Given the description of an element on the screen output the (x, y) to click on. 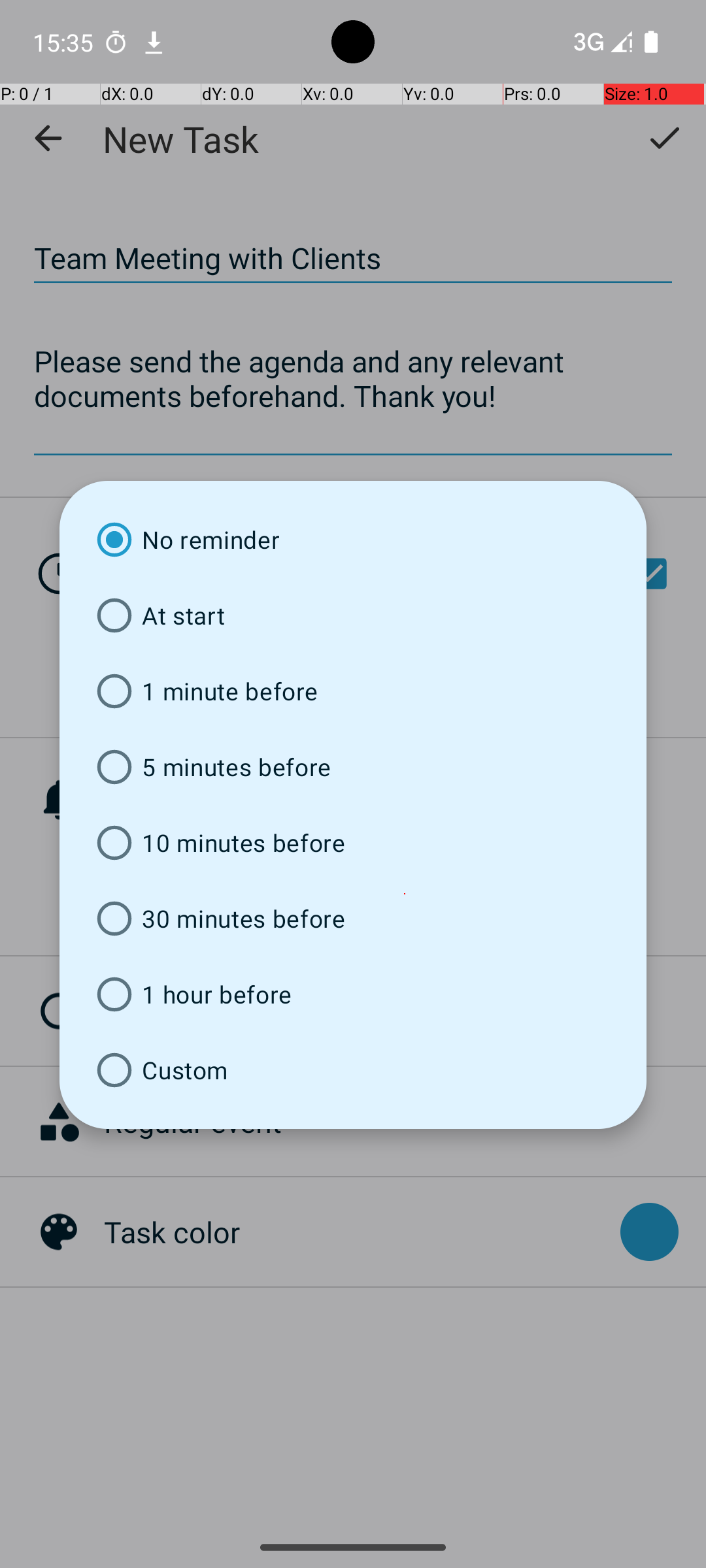
At start Element type: android.widget.RadioButton (352, 615)
1 minute before Element type: android.widget.RadioButton (352, 691)
5 minutes before Element type: android.widget.RadioButton (352, 766)
30 minutes before Element type: android.widget.RadioButton (352, 918)
1 hour before Element type: android.widget.RadioButton (352, 994)
